Given the description of an element on the screen output the (x, y) to click on. 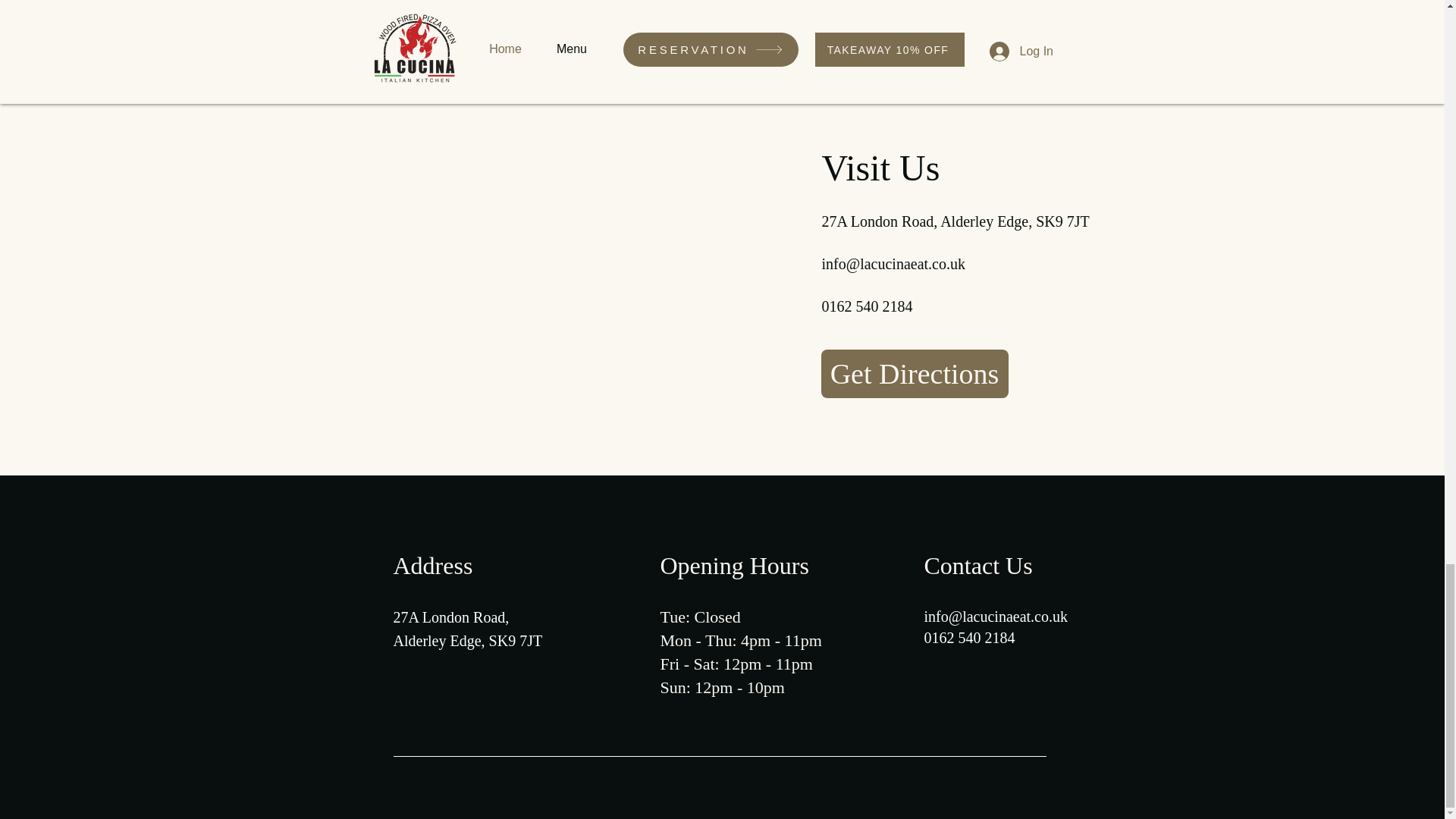
Get Directions (914, 373)
